Given the description of an element on the screen output the (x, y) to click on. 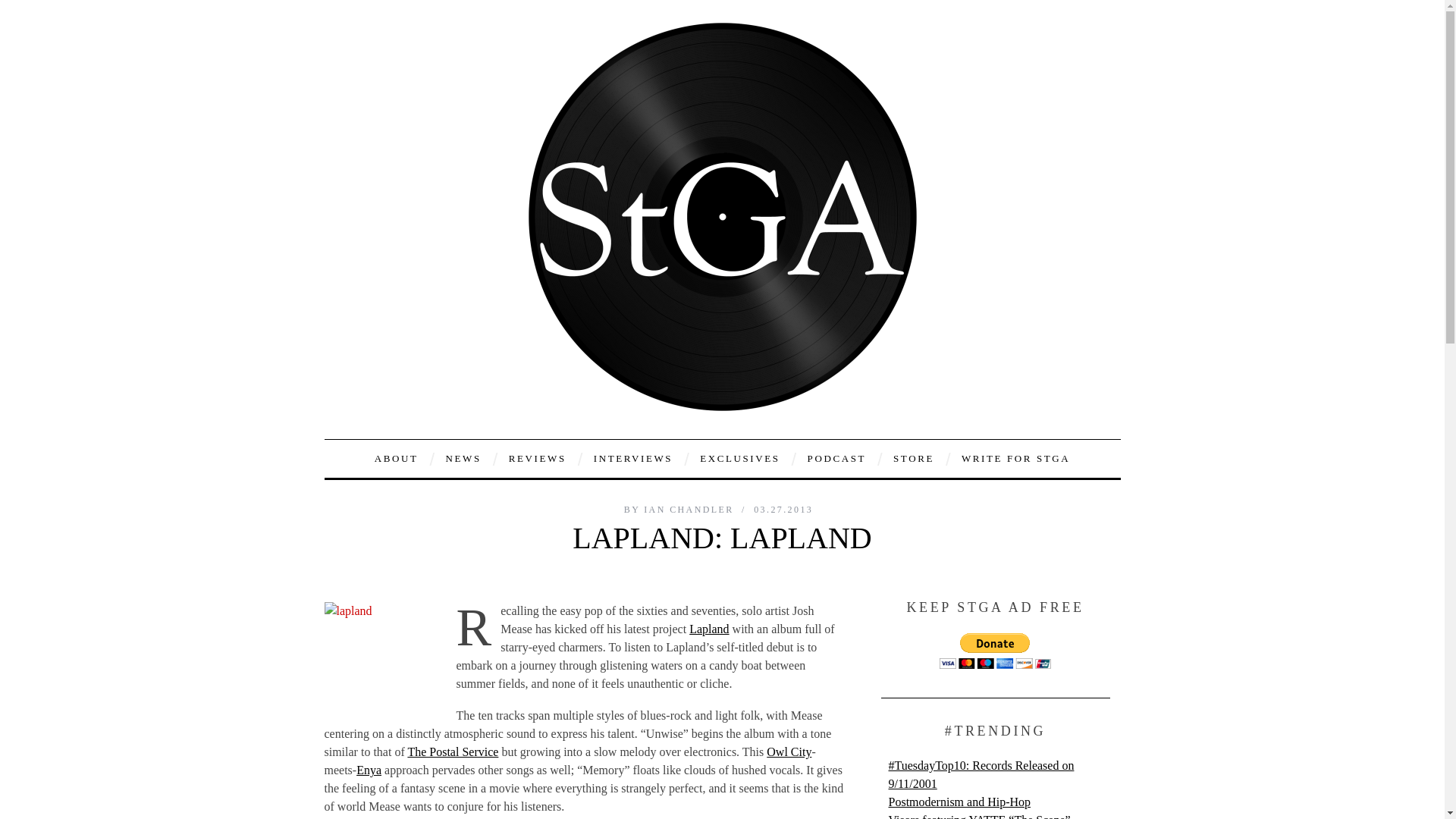
NEWS (463, 458)
INTERVIEWS (633, 458)
Enya (368, 769)
PODCAST (836, 458)
Owl City (788, 751)
REVIEWS (537, 458)
STORE (913, 458)
ABOUT (395, 458)
Lapland (708, 628)
EXCLUSIVES (739, 458)
The Postal Service (452, 751)
IAN CHANDLER (690, 509)
lapland (381, 658)
WRITE FOR STGA (1015, 458)
